Given the description of an element on the screen output the (x, y) to click on. 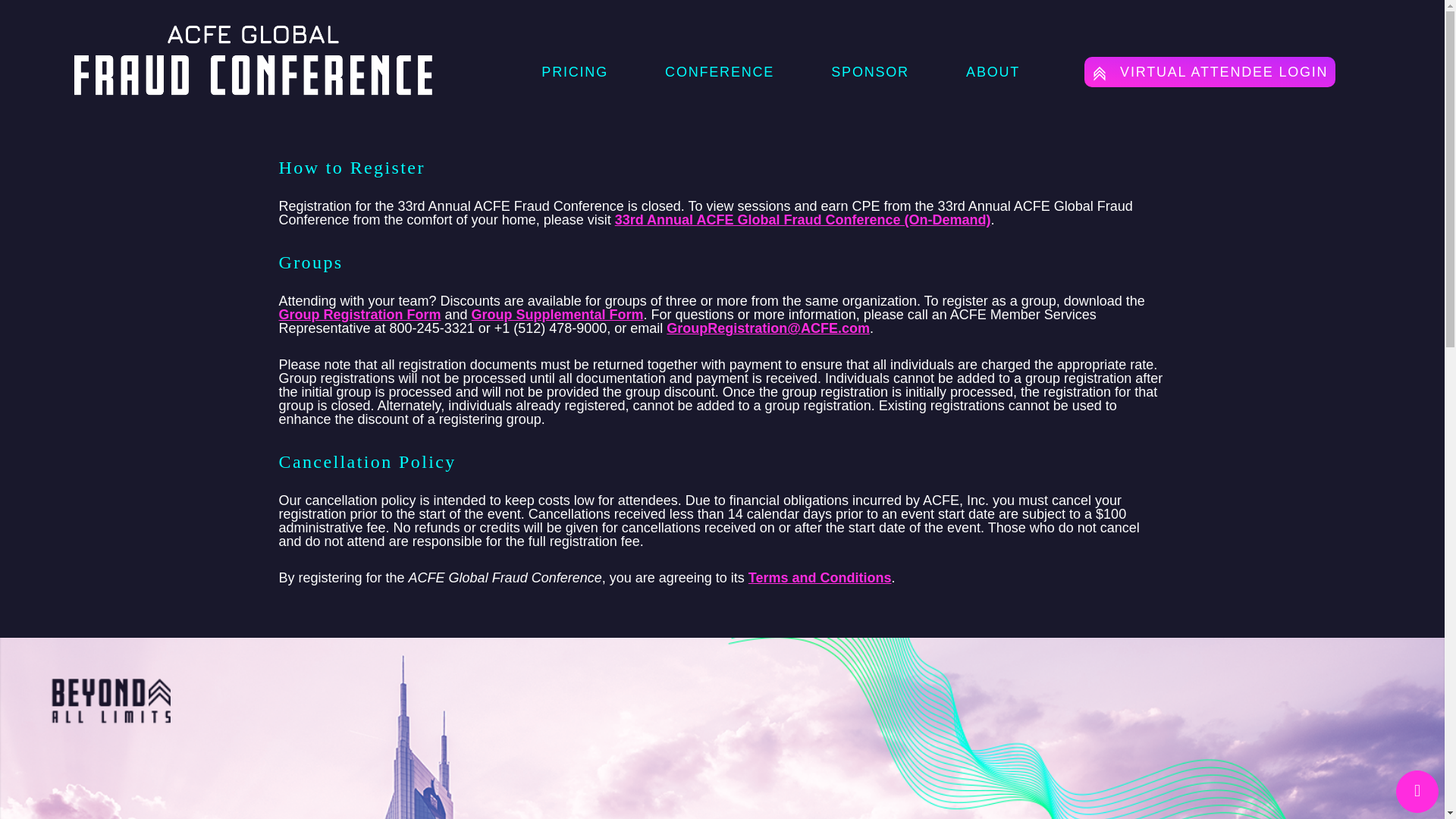
Terms and Conditions (819, 577)
Group Registration Form (360, 314)
CONFERENCE (719, 71)
PRICING (574, 71)
VIRTUAL ATTENDEE LOGIN (1209, 71)
ABOUT (993, 71)
Group Supplemental Form (557, 314)
SPONSOR (869, 71)
